Given the description of an element on the screen output the (x, y) to click on. 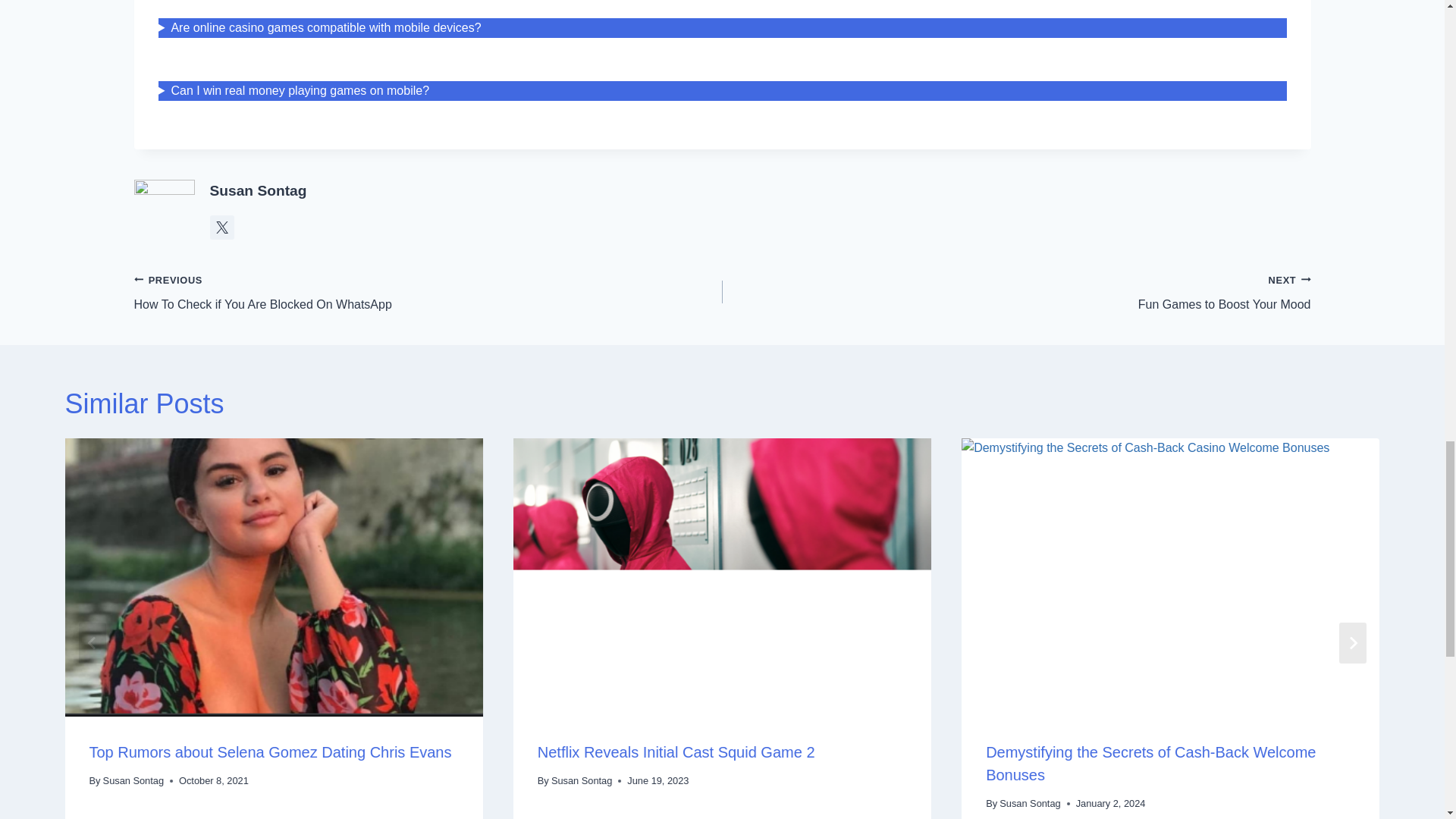
Posts by Susan Sontag (427, 292)
Susan Sontag (1016, 292)
Follow Susan Sontag on X formerly Twitter (257, 190)
